Given the description of an element on the screen output the (x, y) to click on. 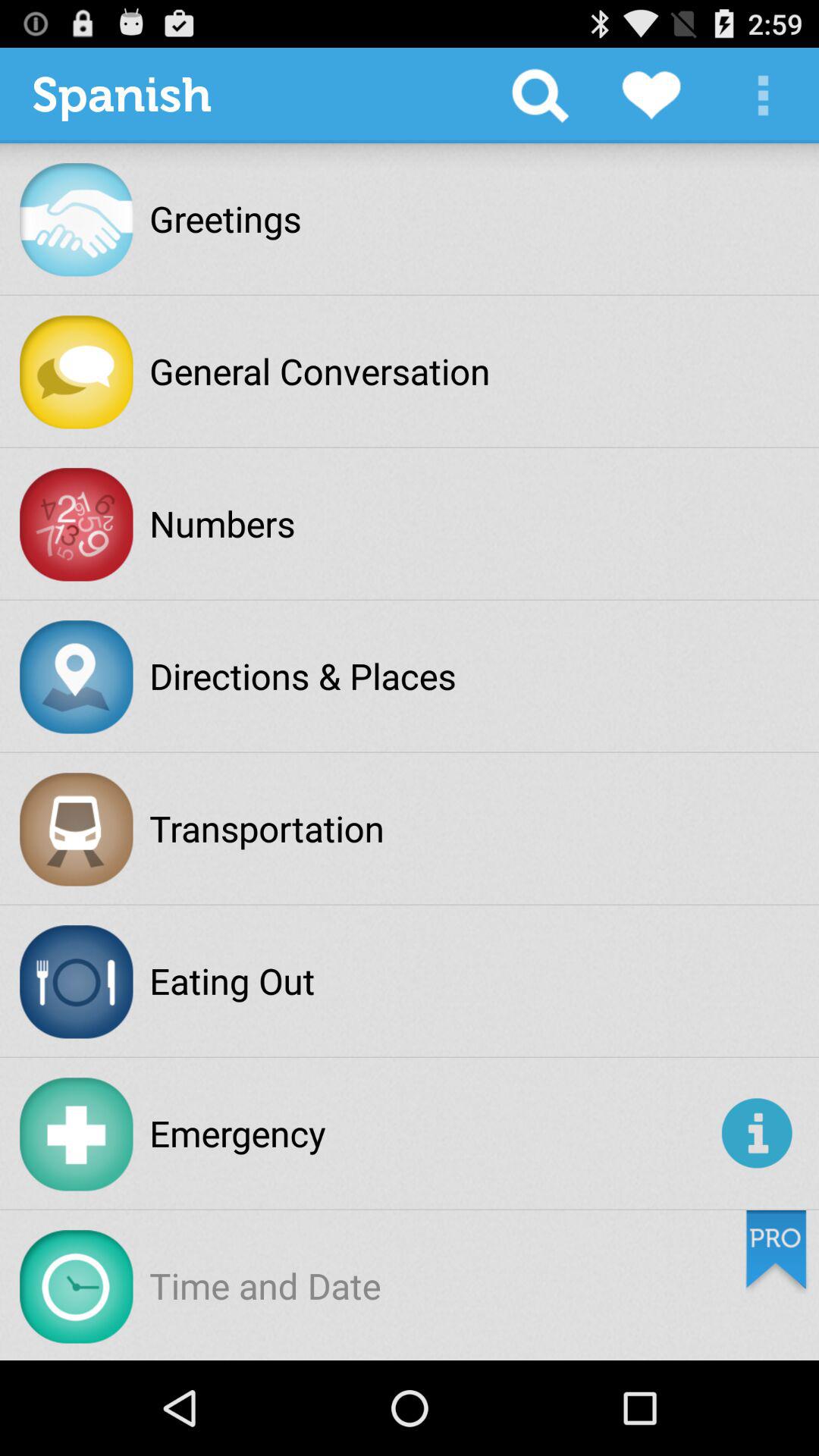
open the numbers icon (222, 523)
